Given the description of an element on the screen output the (x, y) to click on. 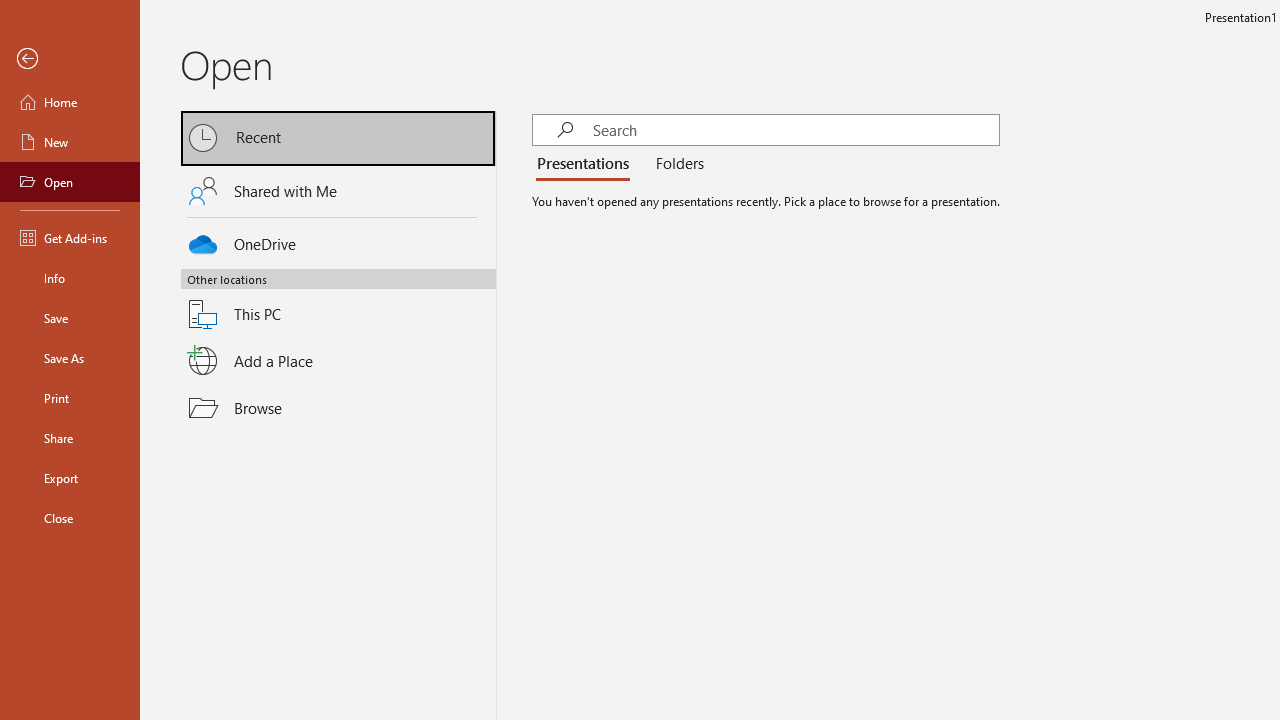
Print (69, 398)
Recent (338, 138)
New (69, 141)
